Given the description of an element on the screen output the (x, y) to click on. 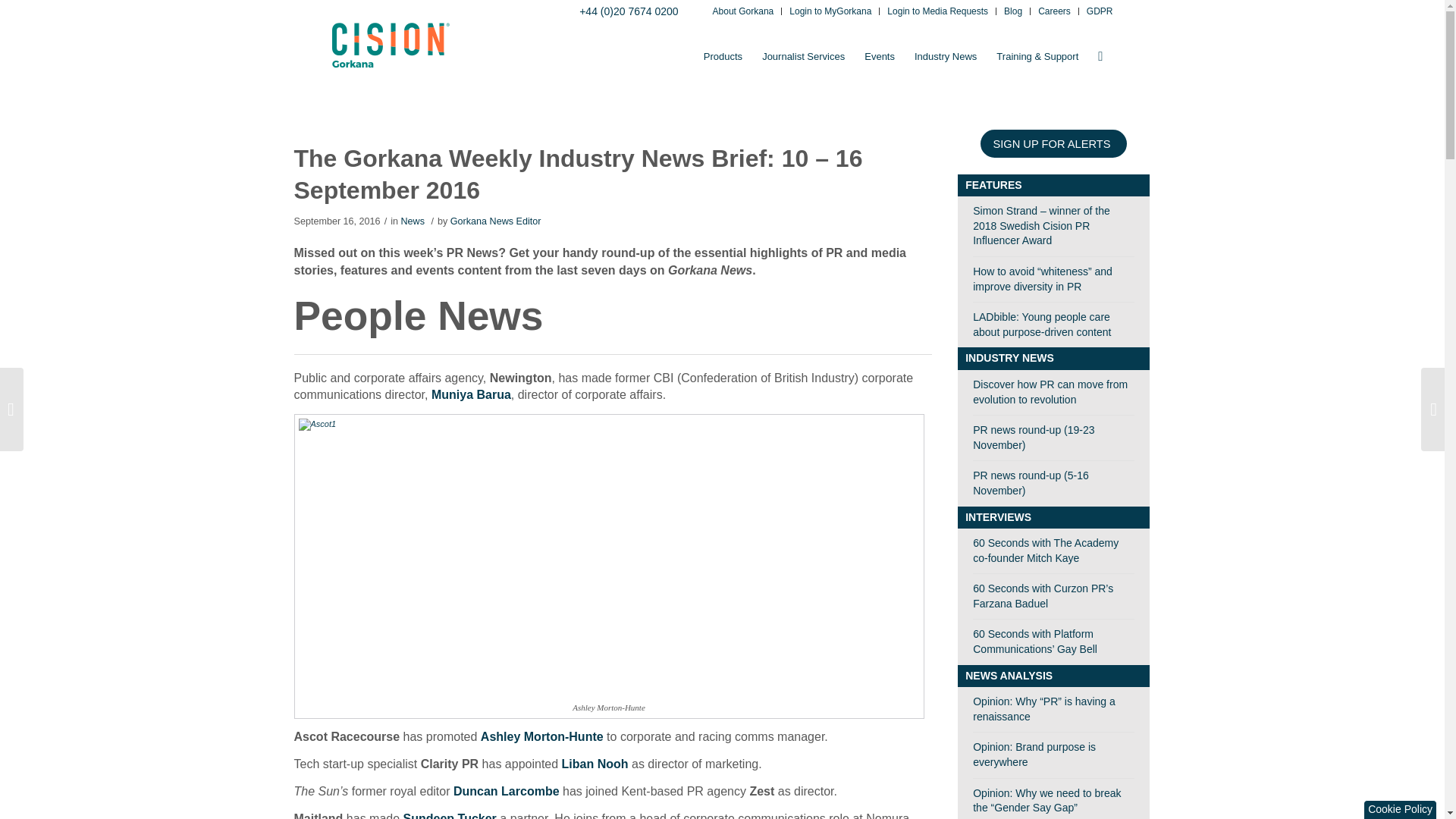
About Gorkana (743, 12)
Journalist Services (803, 56)
Login to MyGorkana (829, 12)
Industry News (945, 56)
Careers (1054, 12)
GDPR (1099, 12)
Posts by Gorkana News Editor (495, 221)
Login to Media Requests (937, 12)
